Given the description of an element on the screen output the (x, y) to click on. 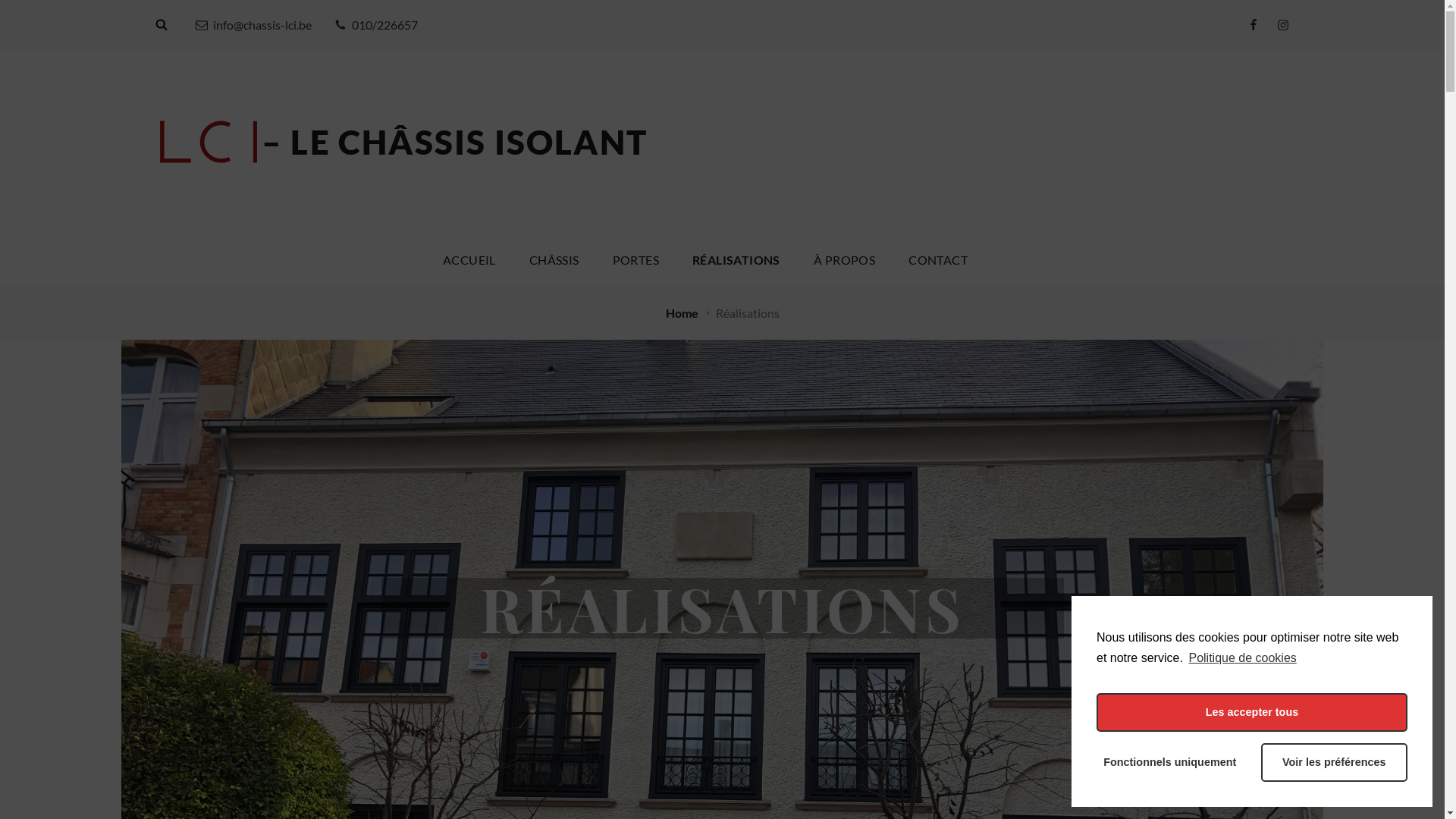
ACCUEIL Element type: text (469, 259)
Politique de cookies Element type: text (1241, 657)
CONTACT Element type: text (937, 259)
info@chassis-lci.be Element type: text (253, 24)
Home Element type: text (682, 312)
PORTES Element type: text (635, 259)
Les accepter tous Element type: text (1251, 712)
Fonctionnels uniquement Element type: text (1169, 762)
010/226657 Element type: text (375, 24)
